Given the description of an element on the screen output the (x, y) to click on. 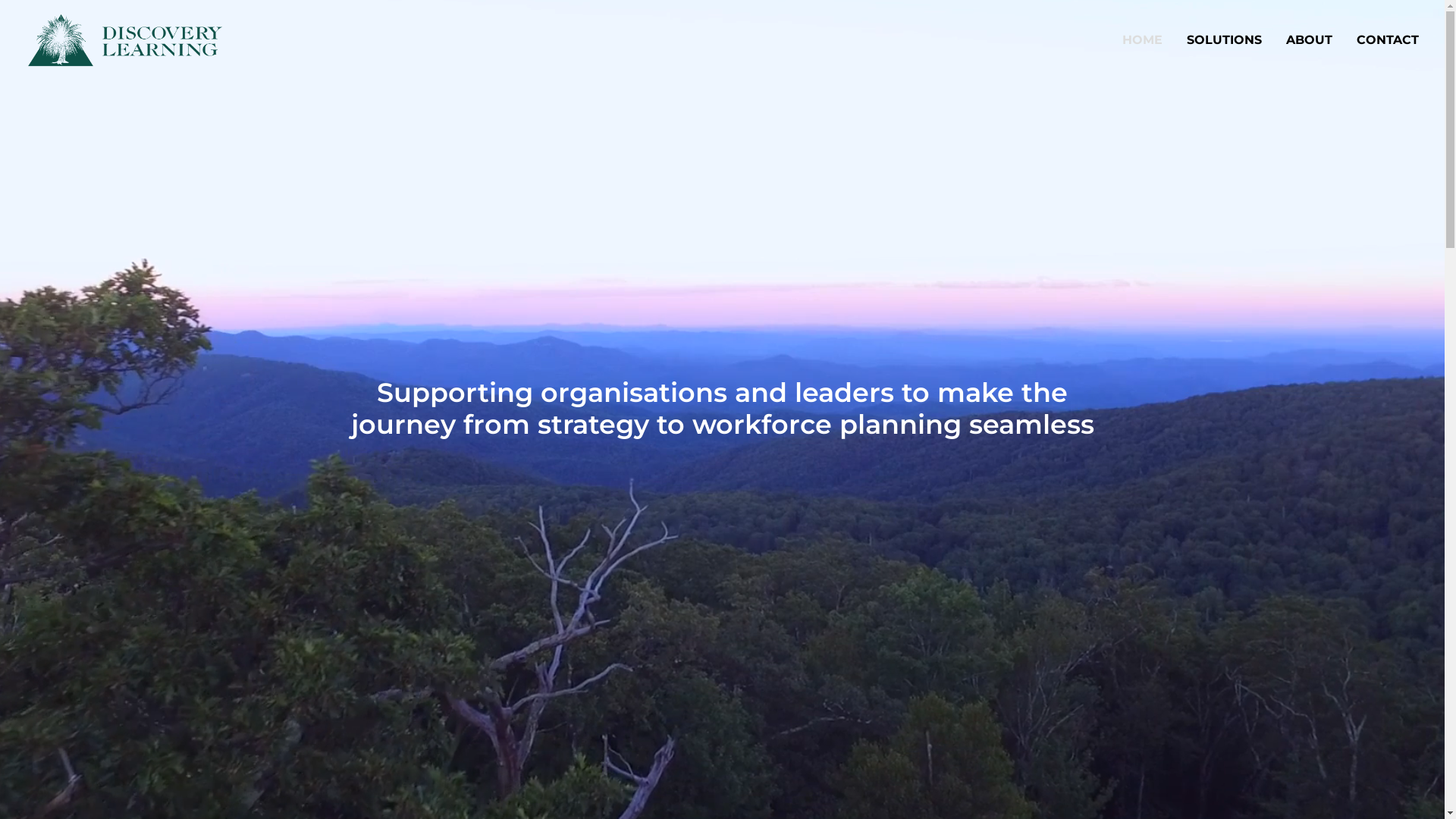
HOME Element type: text (1147, 40)
CONTACT Element type: text (1381, 40)
ABOUT Element type: text (1309, 40)
SOLUTIONS Element type: text (1223, 40)
